Given the description of an element on the screen output the (x, y) to click on. 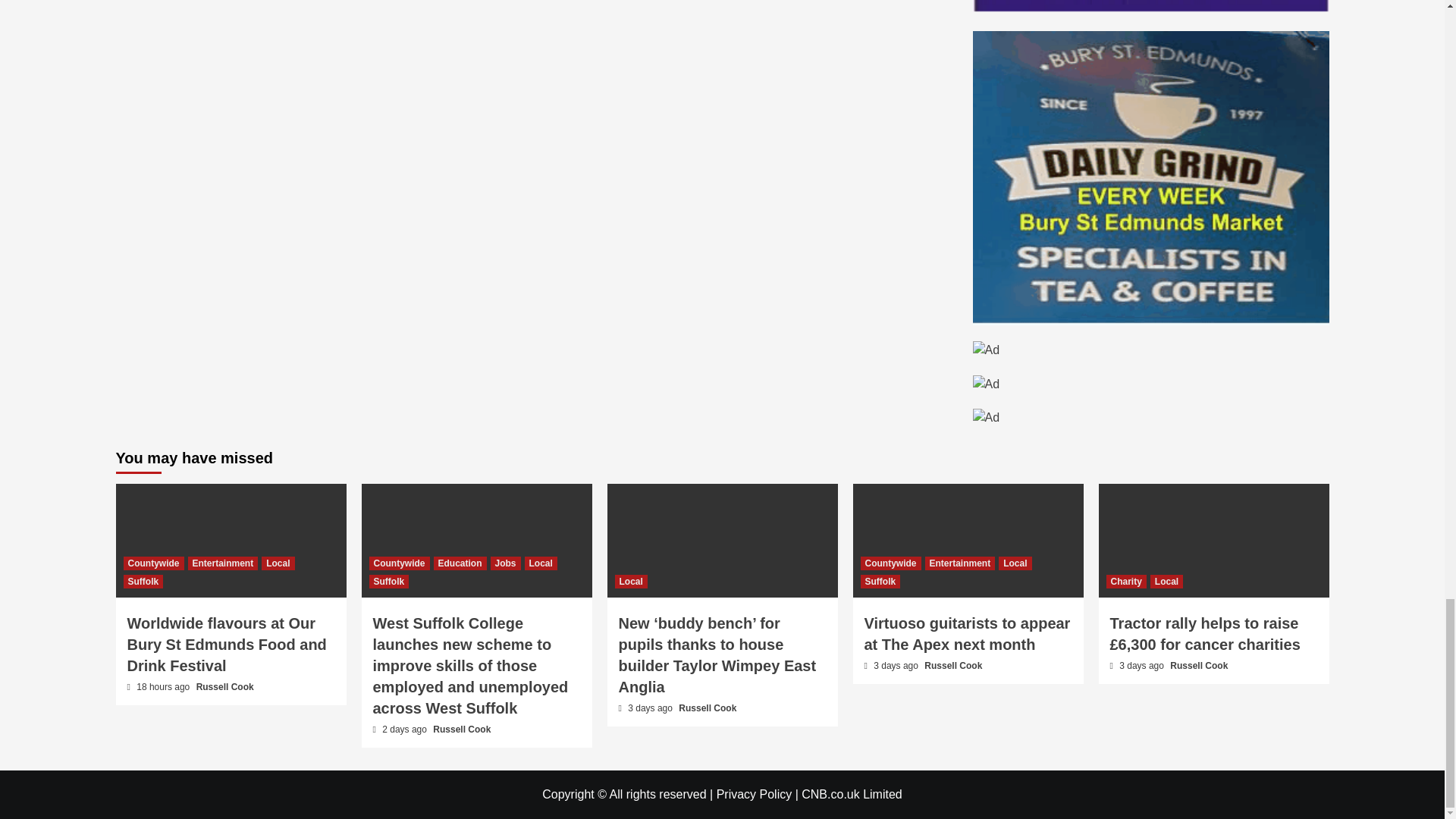
Local (278, 563)
Countywide (152, 563)
Entertainment (223, 563)
